Given the description of an element on the screen output the (x, y) to click on. 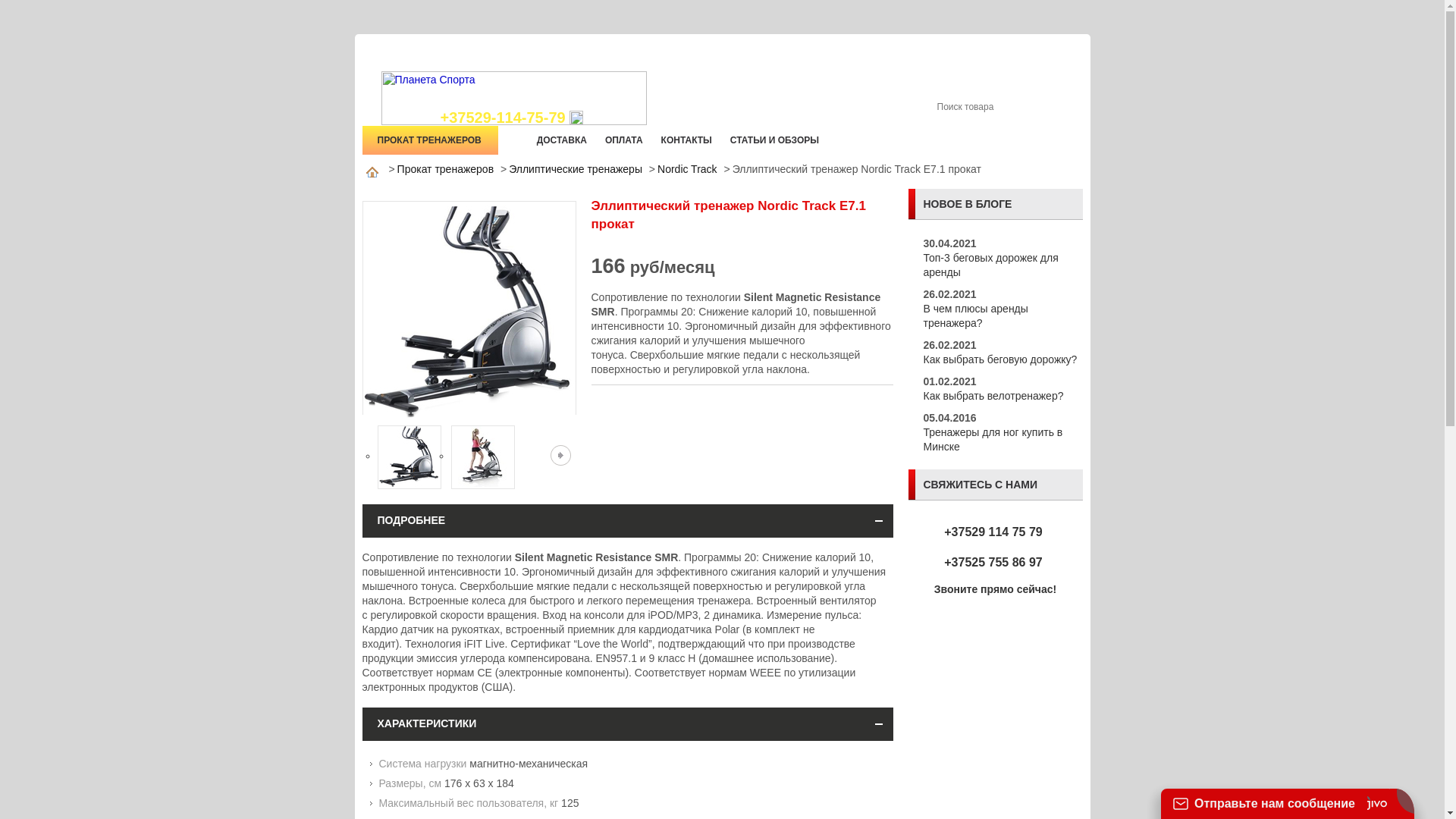
+37529 114 75 79 Element type: text (993, 531)
Next Element type: text (560, 455)
+37525 755 86 97 Element type: text (993, 562)
+37529-114-75-79 Element type: text (510, 117)
Nordic Track Element type: text (687, 169)
